Given the description of an element on the screen output the (x, y) to click on. 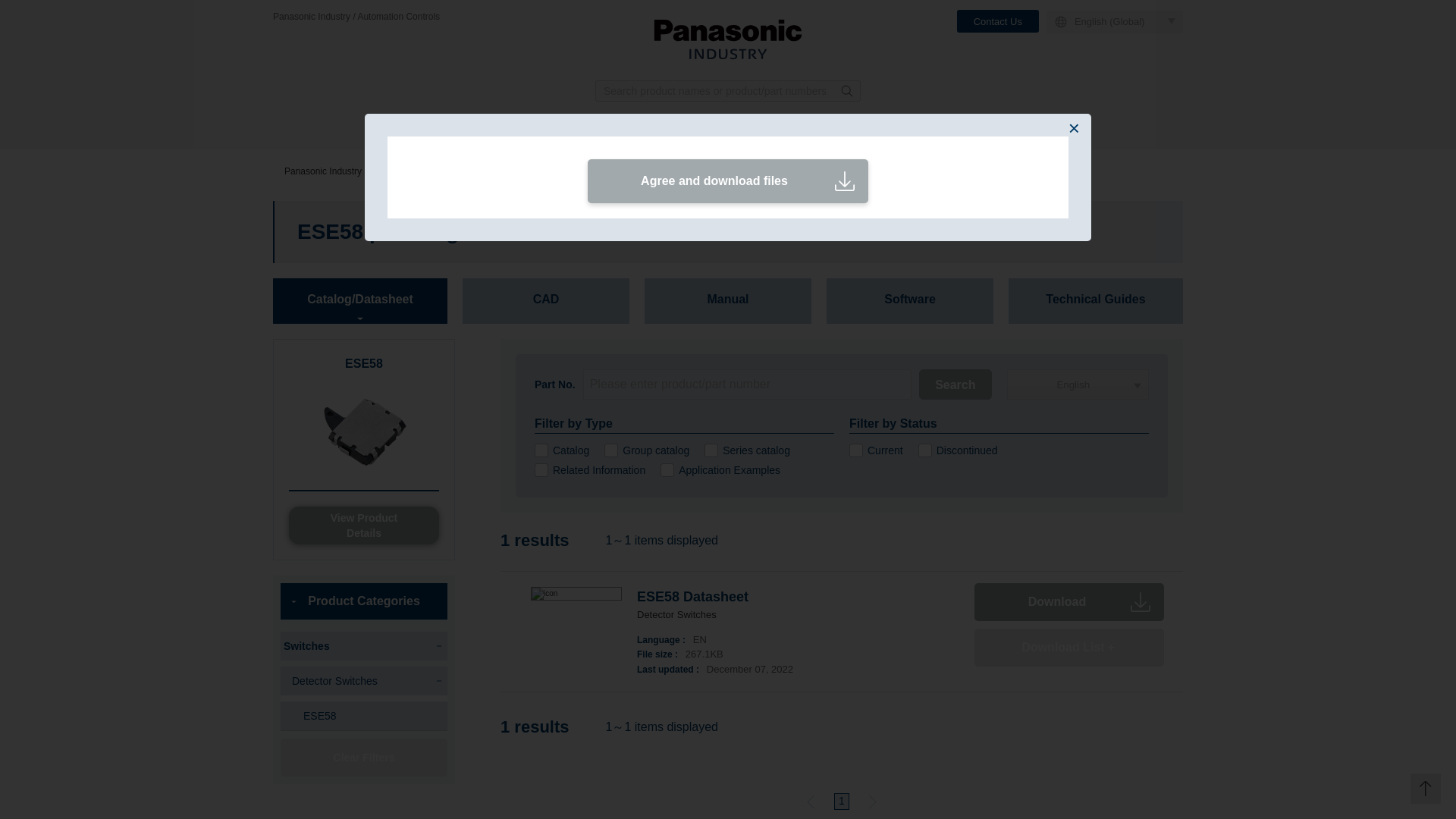
Contact Us (997, 20)
Search (954, 384)
